Given the description of an element on the screen output the (x, y) to click on. 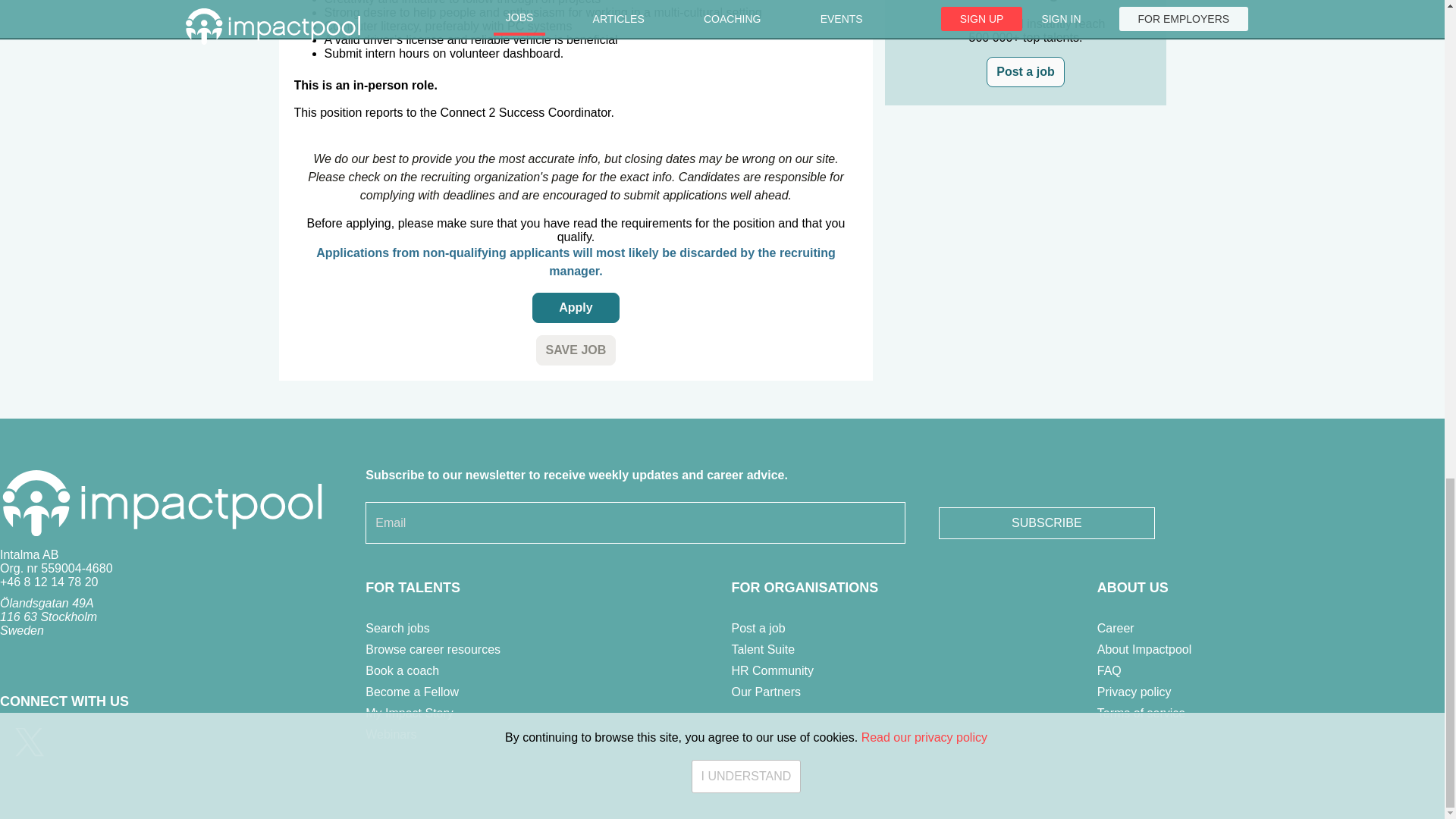
Post a job (1025, 71)
SAVE JOB (575, 349)
Career (1115, 627)
Subscribe (1046, 522)
Apply (576, 307)
About Impactpool (1144, 649)
FAQ (1109, 670)
